Given the description of an element on the screen output the (x, y) to click on. 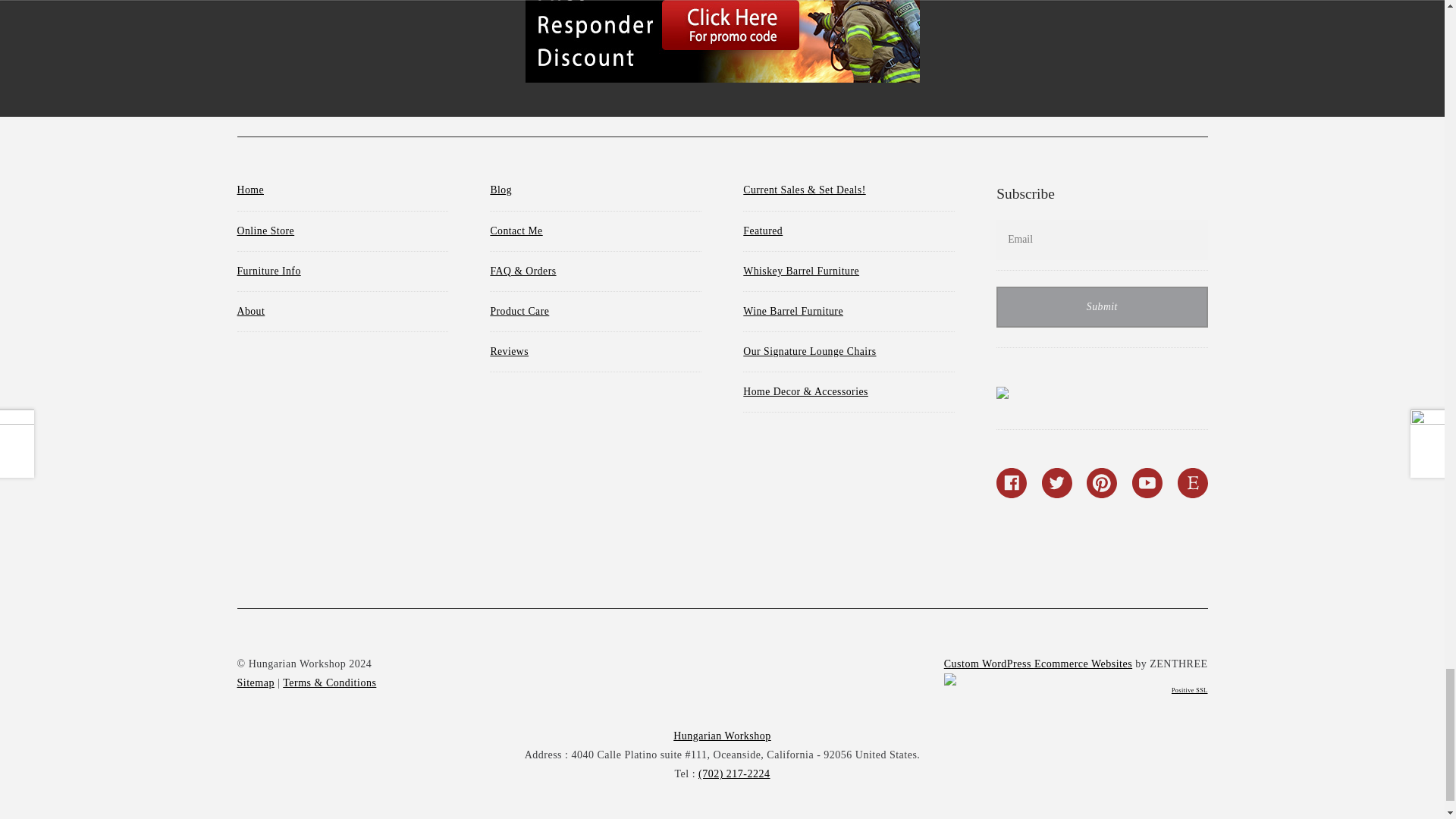
Submit (1101, 306)
San Diego WordPress Ecommerce (1037, 663)
